Given the description of an element on the screen output the (x, y) to click on. 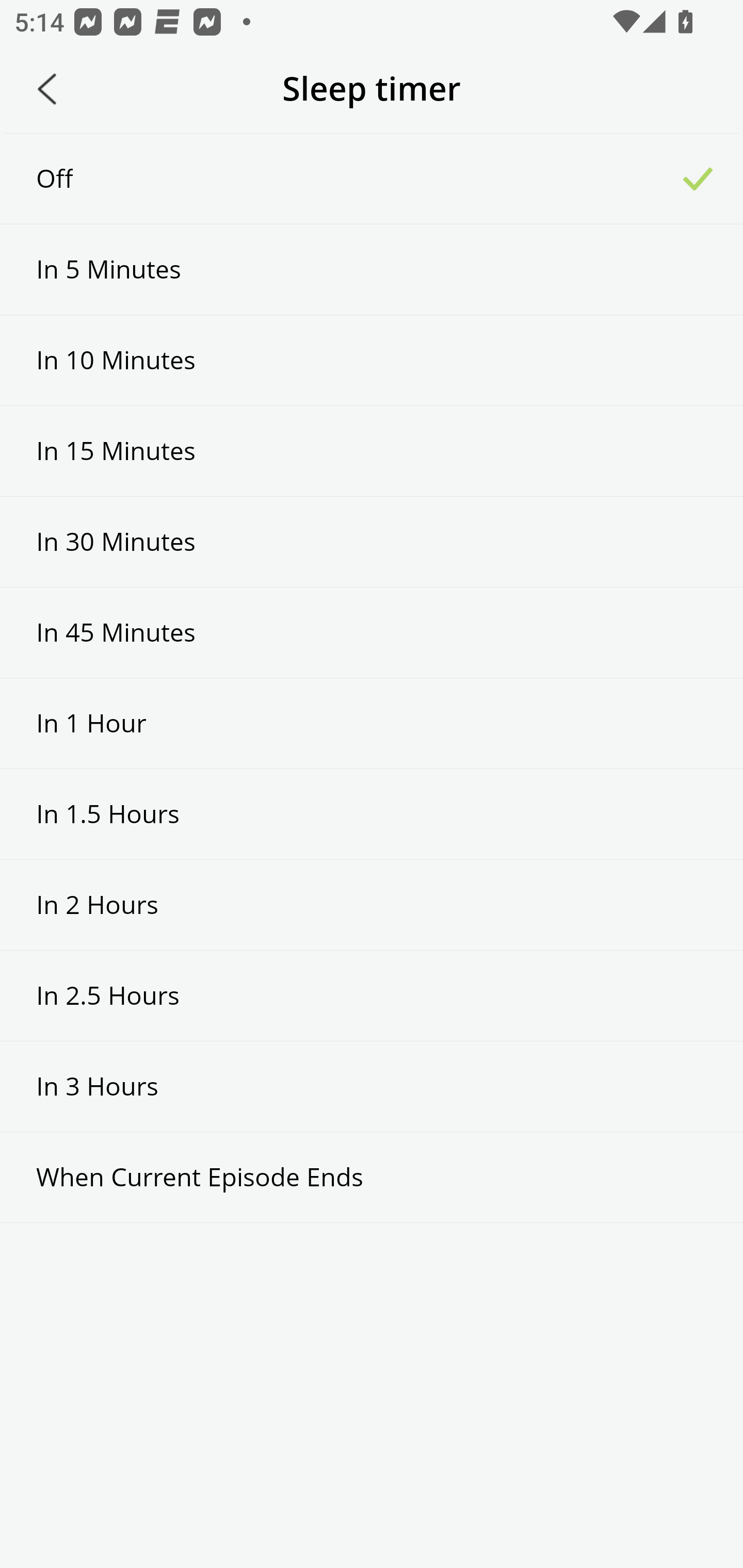
Back (46, 88)
Off (371, 178)
In 5 Minutes (371, 269)
In 10 Minutes (371, 360)
In 15 Minutes (371, 450)
In 30 Minutes (371, 541)
In 45 Minutes (371, 632)
In 1 Hour (371, 723)
In 1.5 Hours (371, 813)
In 2 Hours (371, 904)
In 2.5 Hours (371, 995)
In 3 Hours (371, 1086)
When Current Episode Ends (371, 1177)
